Given the description of an element on the screen output the (x, y) to click on. 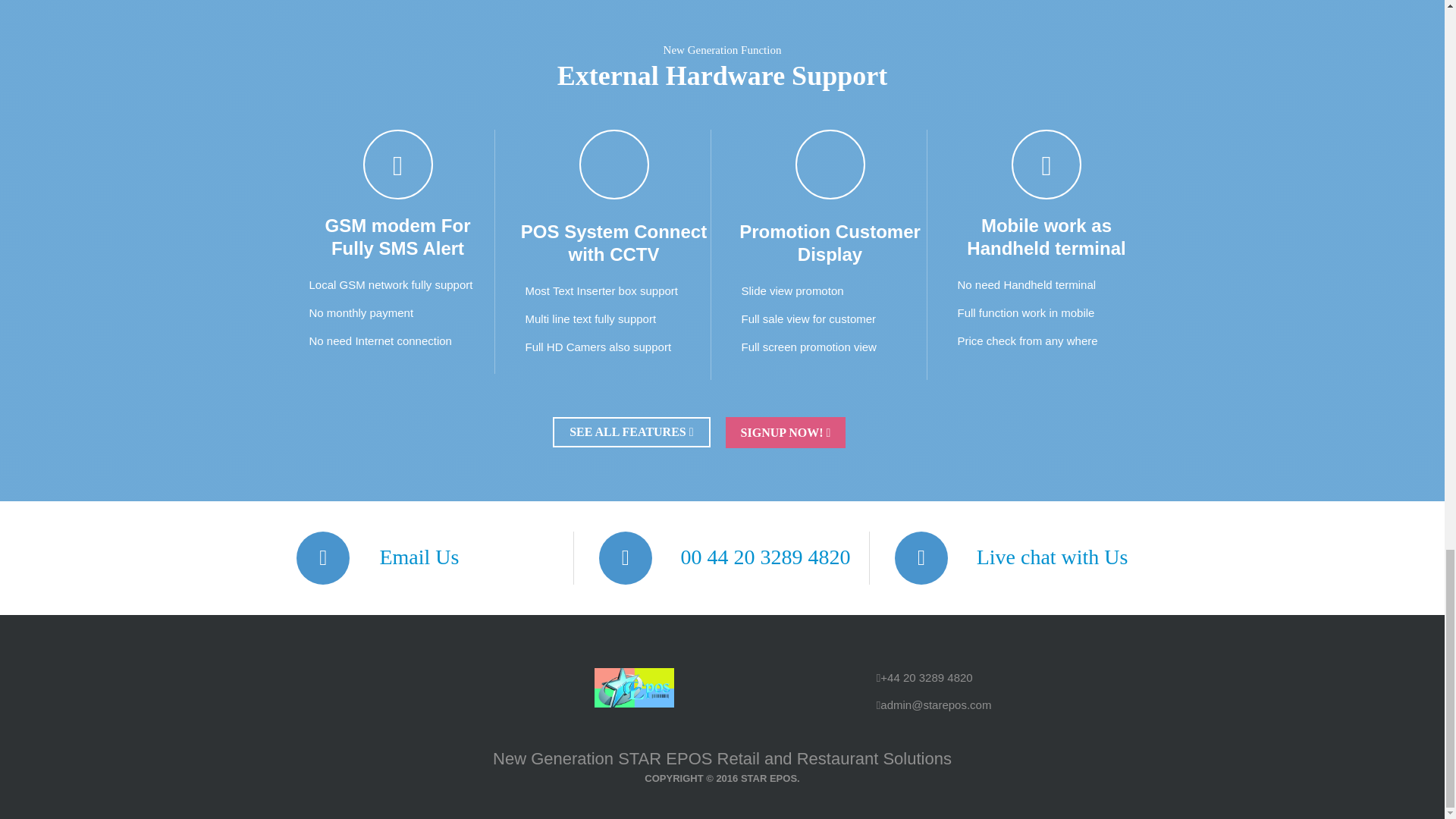
Email Us (426, 557)
SEE ALL FEATURES (631, 431)
SIGNUP NOW! (785, 431)
00 44 20 3289 4820 (771, 557)
Live chat with Us (1059, 557)
